Given the description of an element on the screen output the (x, y) to click on. 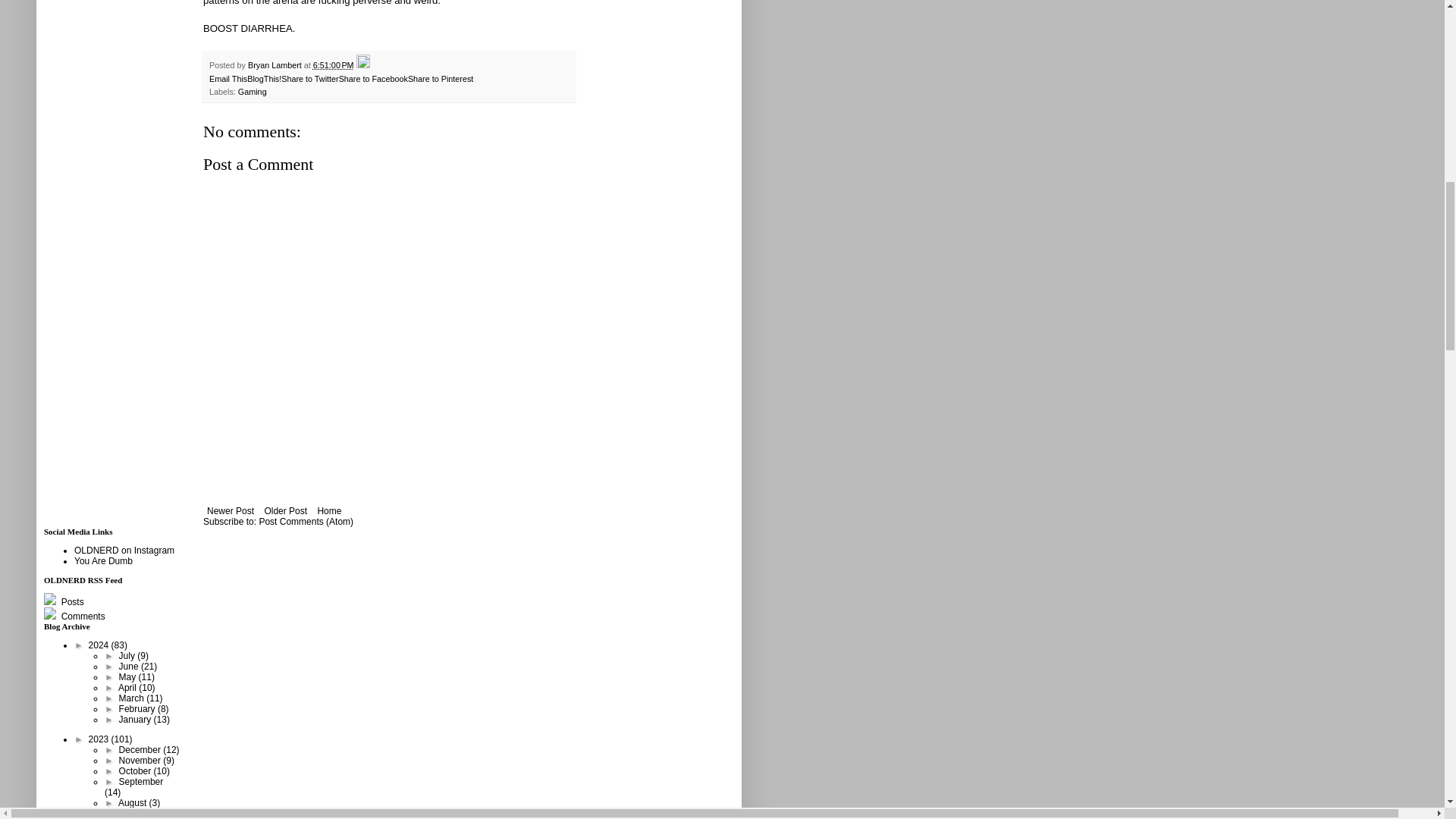
author profile (275, 64)
June (130, 665)
Share to Pinterest (440, 78)
Bryan Lambert (275, 64)
Gaming (252, 91)
Share to Twitter (309, 78)
Older Post (285, 511)
Email This (228, 78)
BlogThis! (264, 78)
Older Post (285, 511)
Share to Facebook (373, 78)
Newer Post (230, 511)
BlogThis! (264, 78)
March (133, 697)
